Given the description of an element on the screen output the (x, y) to click on. 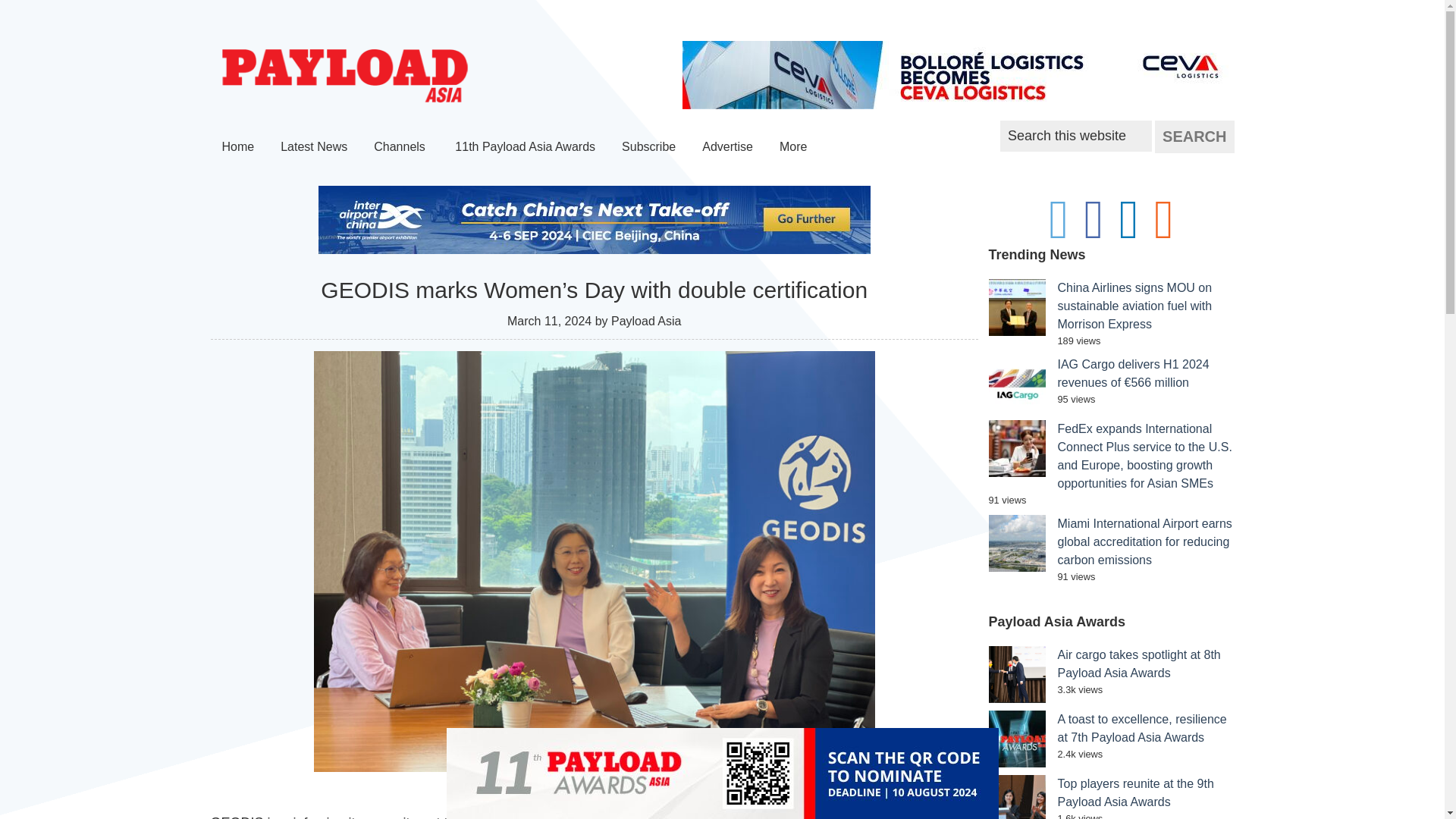
Search (1193, 136)
Search (1193, 136)
More  (795, 146)
Latest News (313, 146)
Subscribe (648, 146)
11th Payload Asia Awards (525, 146)
Payload Asia (344, 75)
Channels  (400, 146)
Advertise (727, 146)
